Given the description of an element on the screen output the (x, y) to click on. 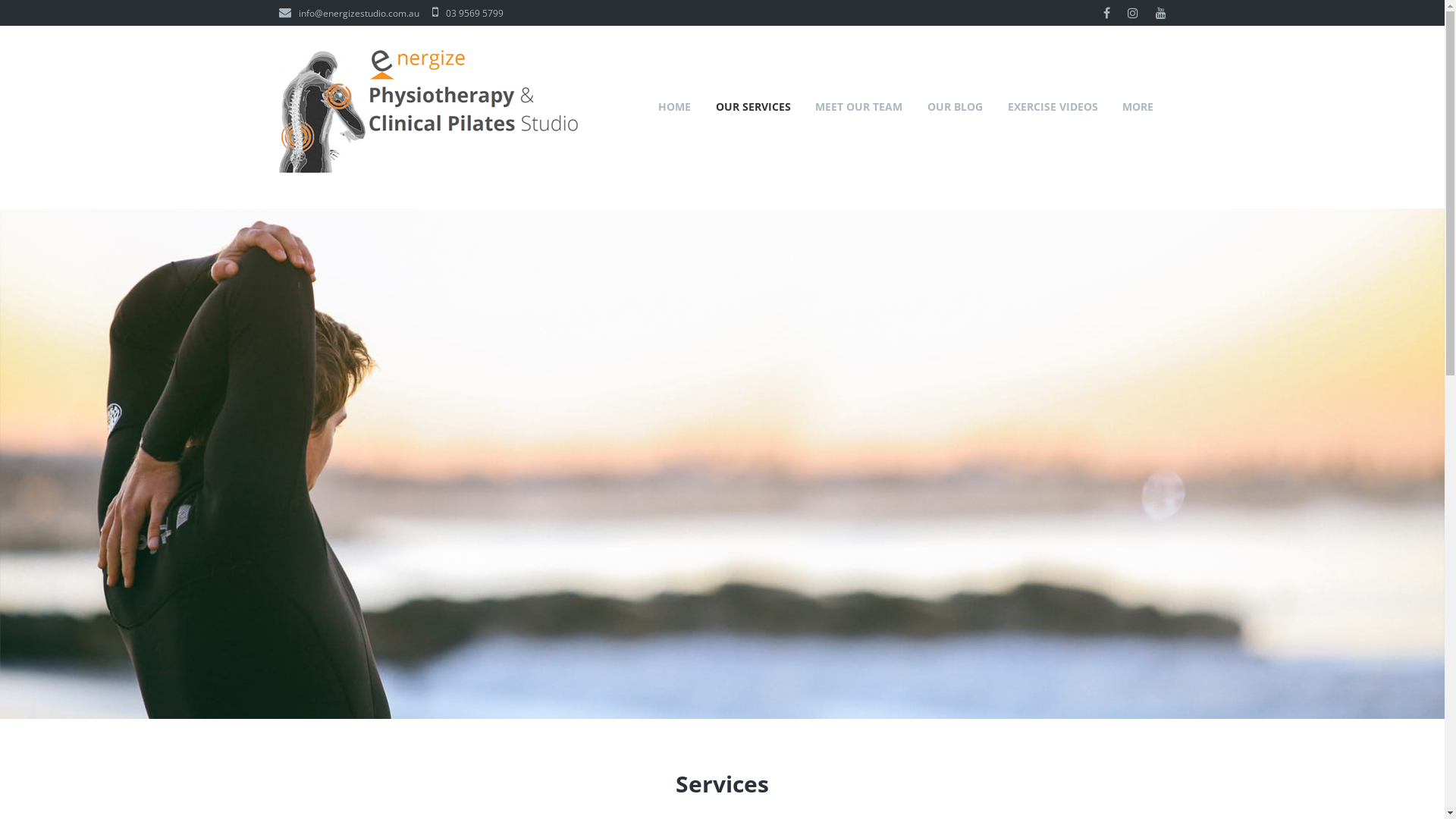
03 9569 5799 Element type: text (467, 12)
OUR SERVICES Element type: text (752, 106)
MORE Element type: text (1138, 106)
HOME Element type: text (674, 106)
EXERCISE VIDEOS Element type: text (1052, 106)
info@energizestudio.com.au Element type: text (349, 12)
OUR BLOG Element type: text (955, 106)
MEET OUR TEAM Element type: text (859, 106)
